Given the description of an element on the screen output the (x, y) to click on. 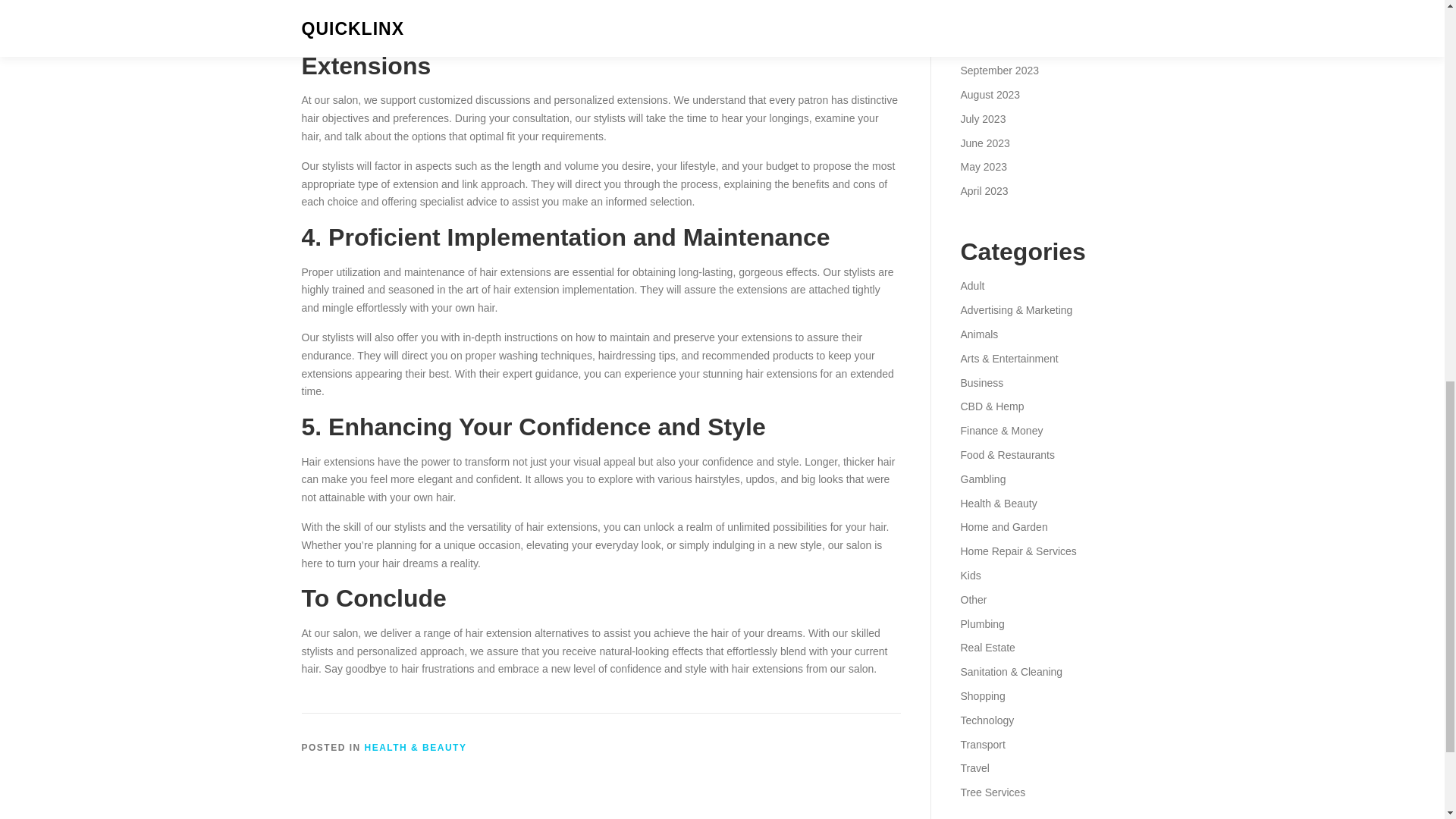
June 2023 (984, 143)
Animals (978, 334)
July 2023 (982, 119)
September 2023 (999, 70)
April 2023 (983, 191)
Adult (971, 285)
Business (981, 382)
October 2023 (992, 46)
December 2023 (997, 2)
November 2023 (997, 22)
